Given the description of an element on the screen output the (x, y) to click on. 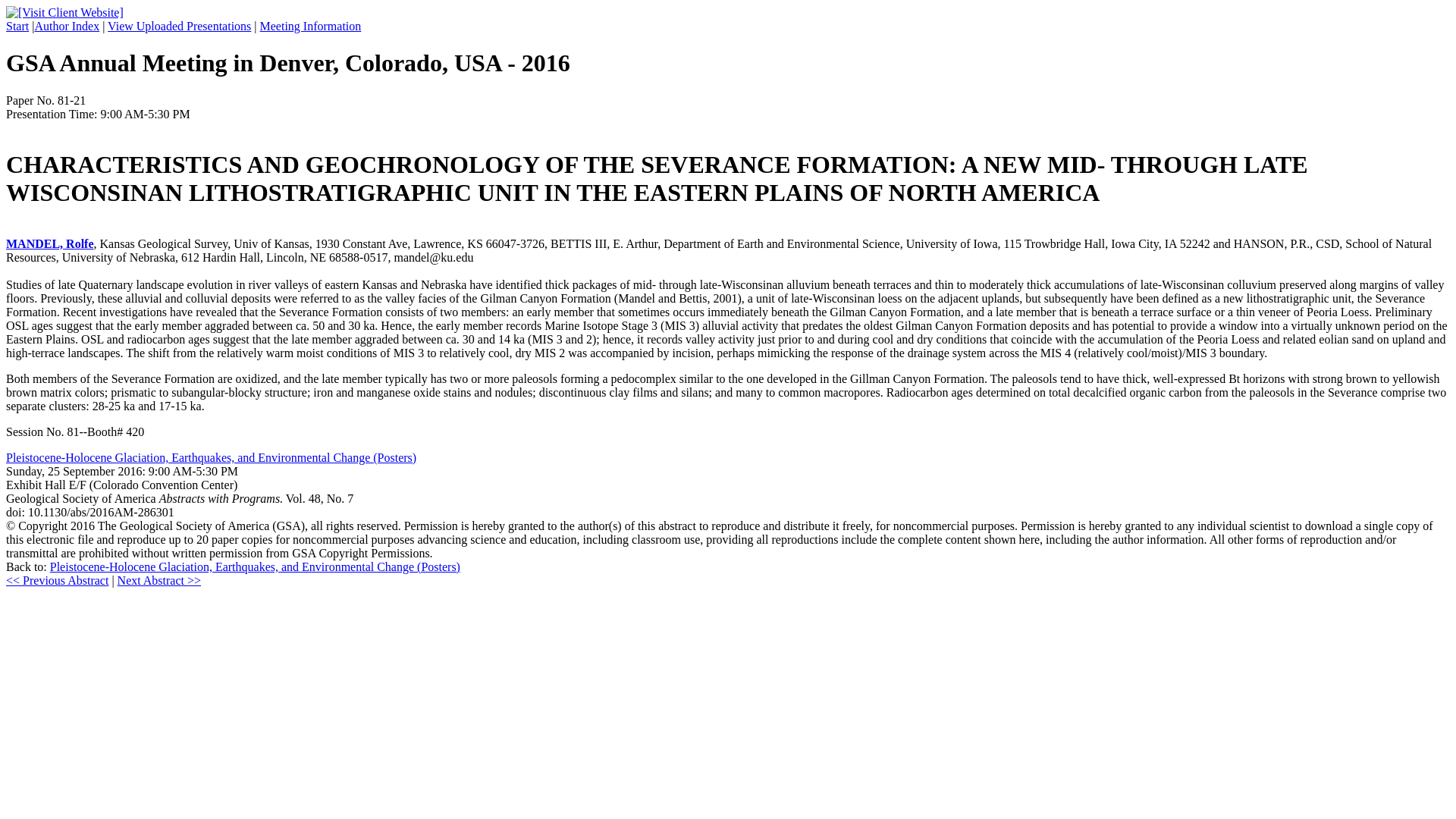
Author Index (66, 25)
Meeting Information (310, 25)
View Uploaded Presentations (178, 25)
MANDEL, Rolfe (49, 243)
Start (17, 25)
